Given the description of an element on the screen output the (x, y) to click on. 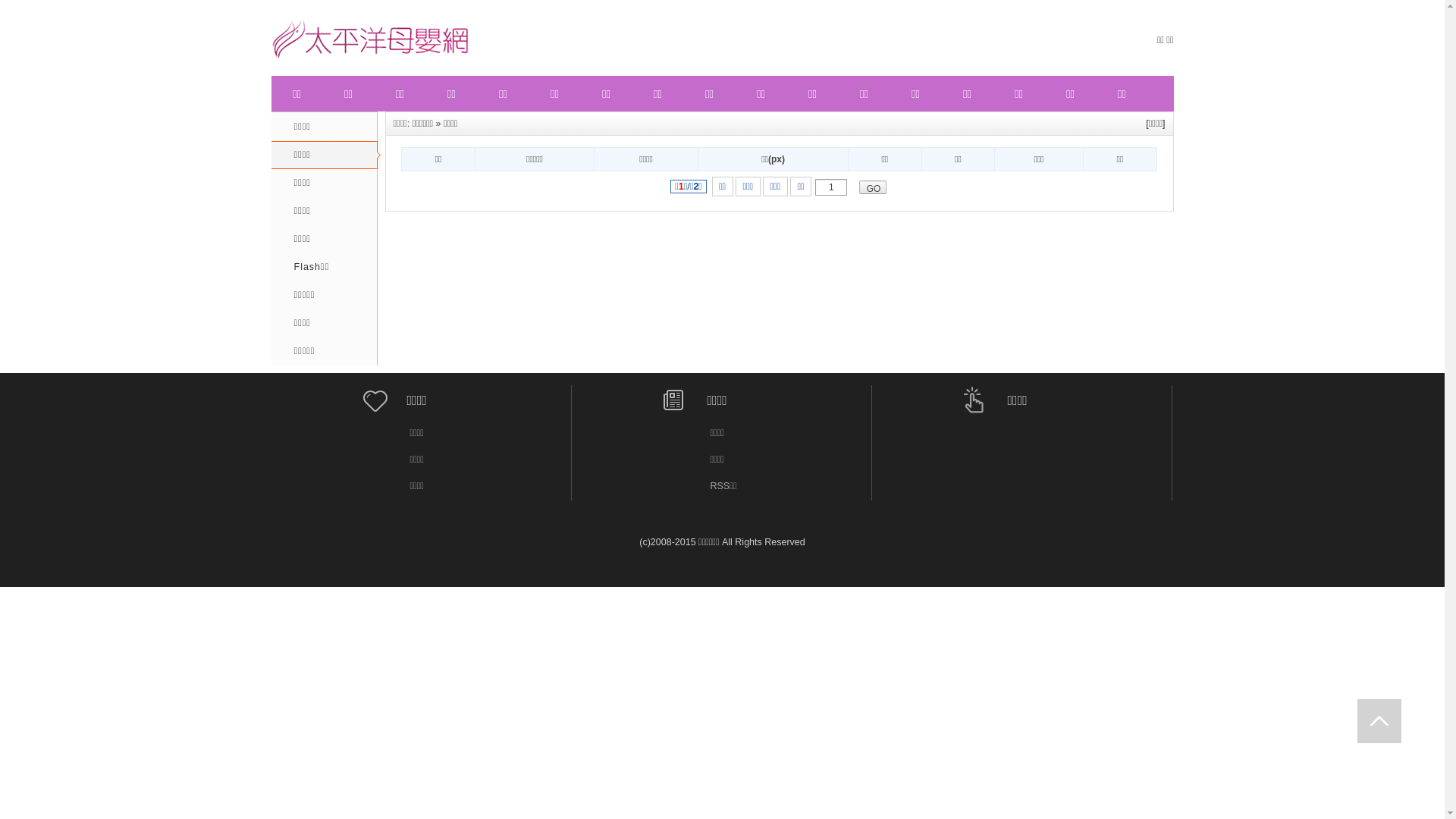
  Element type: text (1379, 721)
GO Element type: text (872, 187)
